Given the description of an element on the screen output the (x, y) to click on. 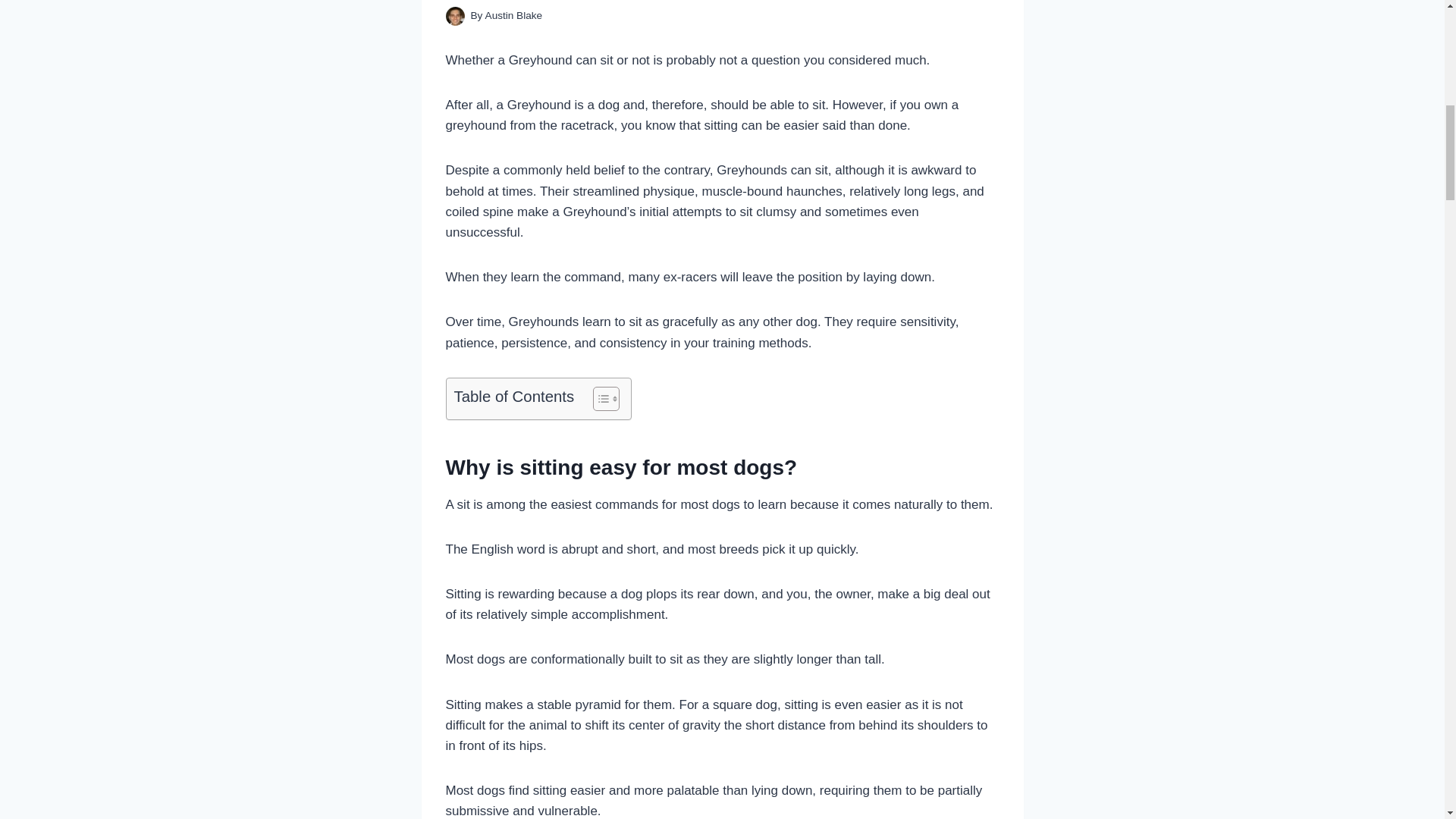
Austin Blake (513, 15)
